Given the description of an element on the screen output the (x, y) to click on. 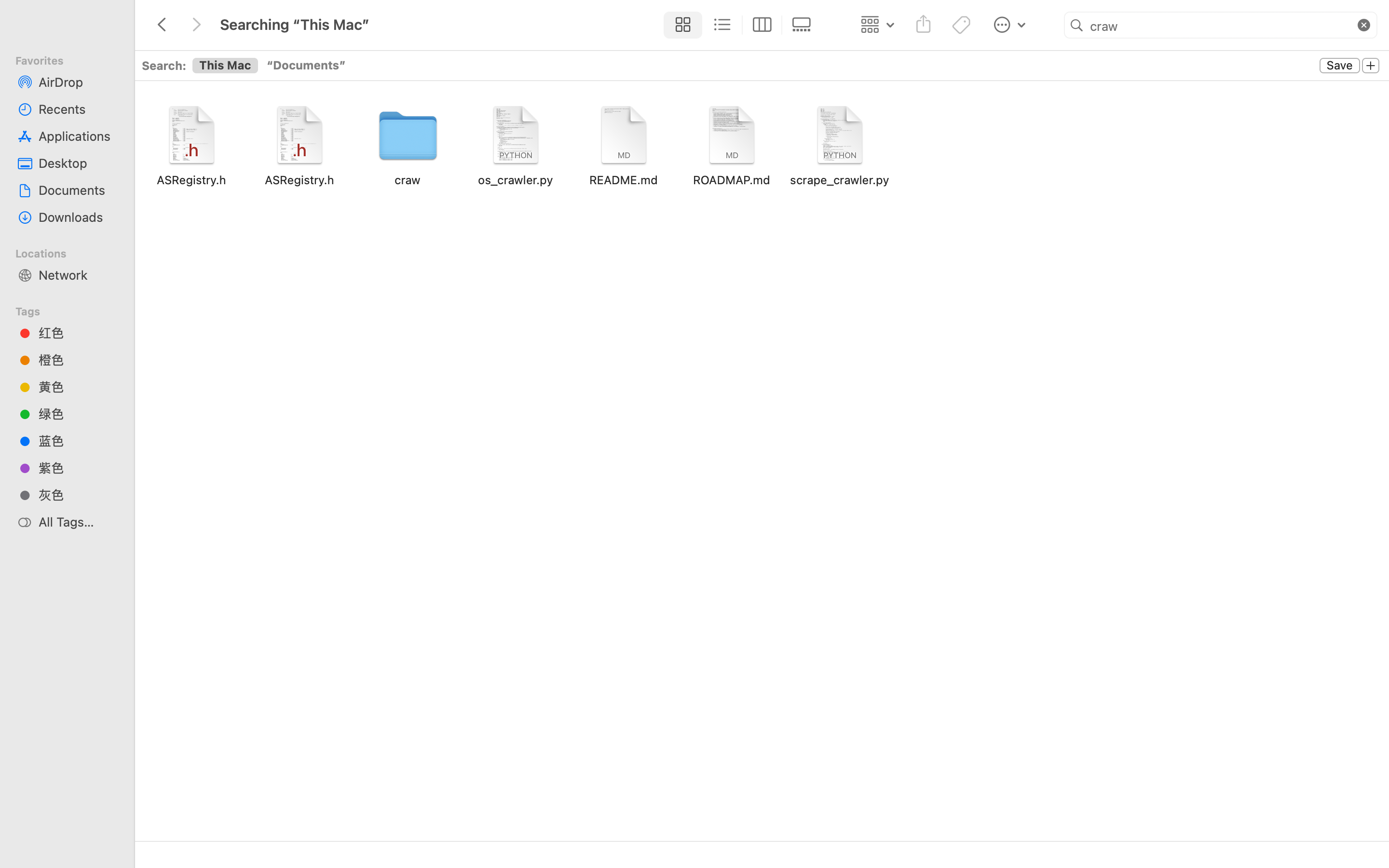
0 Element type: AXCheckBox (1370, 65)
<AXUIElement 0x13a7ec450> {pid=510} Element type: AXRadioGroup (741, 24)
Desktop Element type: AXStaticText (77, 162)
Favorites Element type: AXStaticText (72, 59)
黄色 Element type: AXStaticText (77, 386)
